Given the description of an element on the screen output the (x, y) to click on. 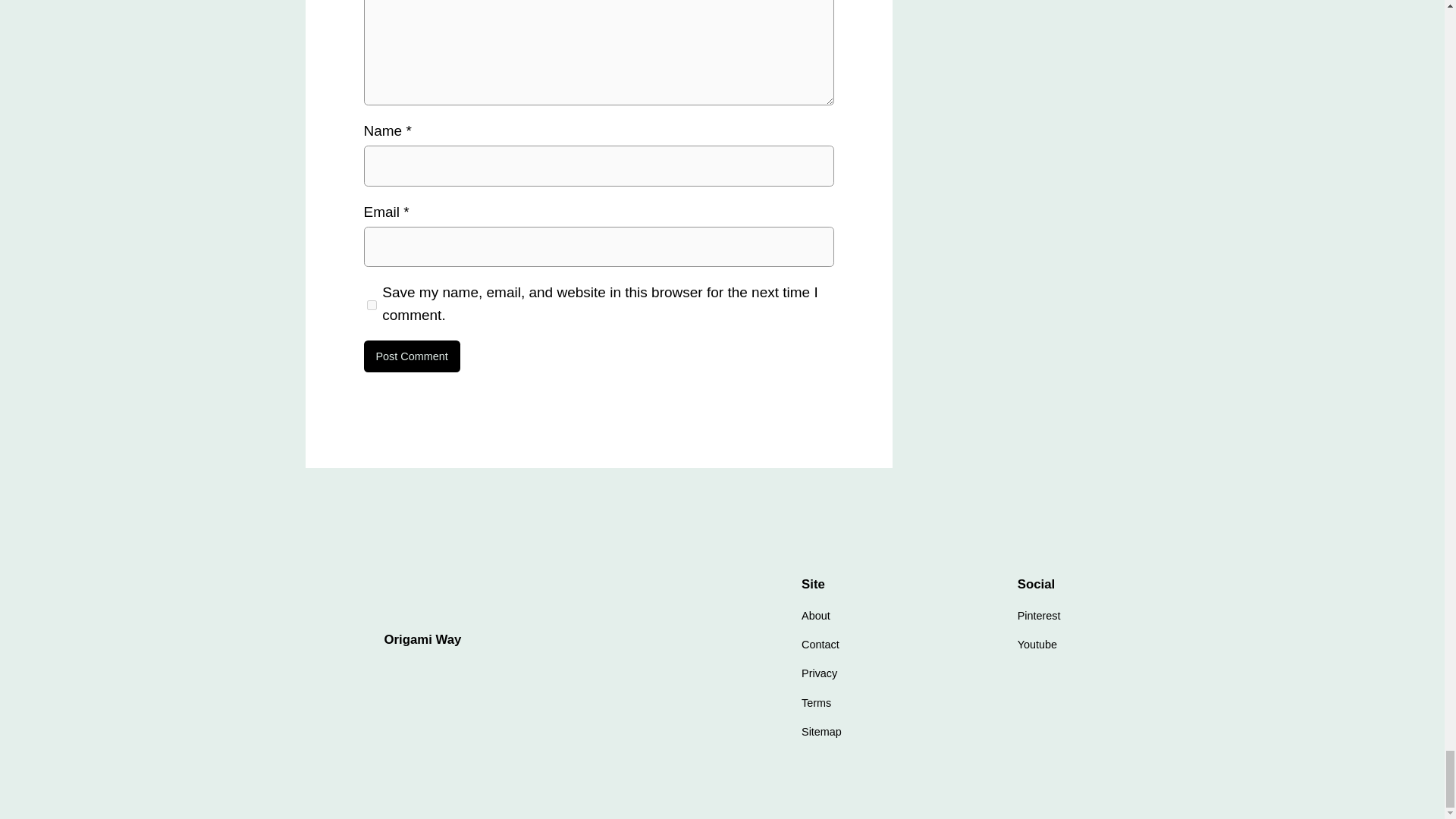
Pinterest (1039, 615)
Post Comment (412, 356)
Contact (821, 644)
Terms (816, 702)
Post Comment (412, 356)
Youtube (1037, 644)
Sitemap (821, 731)
Origami Way (422, 639)
About (815, 615)
Privacy (819, 673)
